Given the description of an element on the screen output the (x, y) to click on. 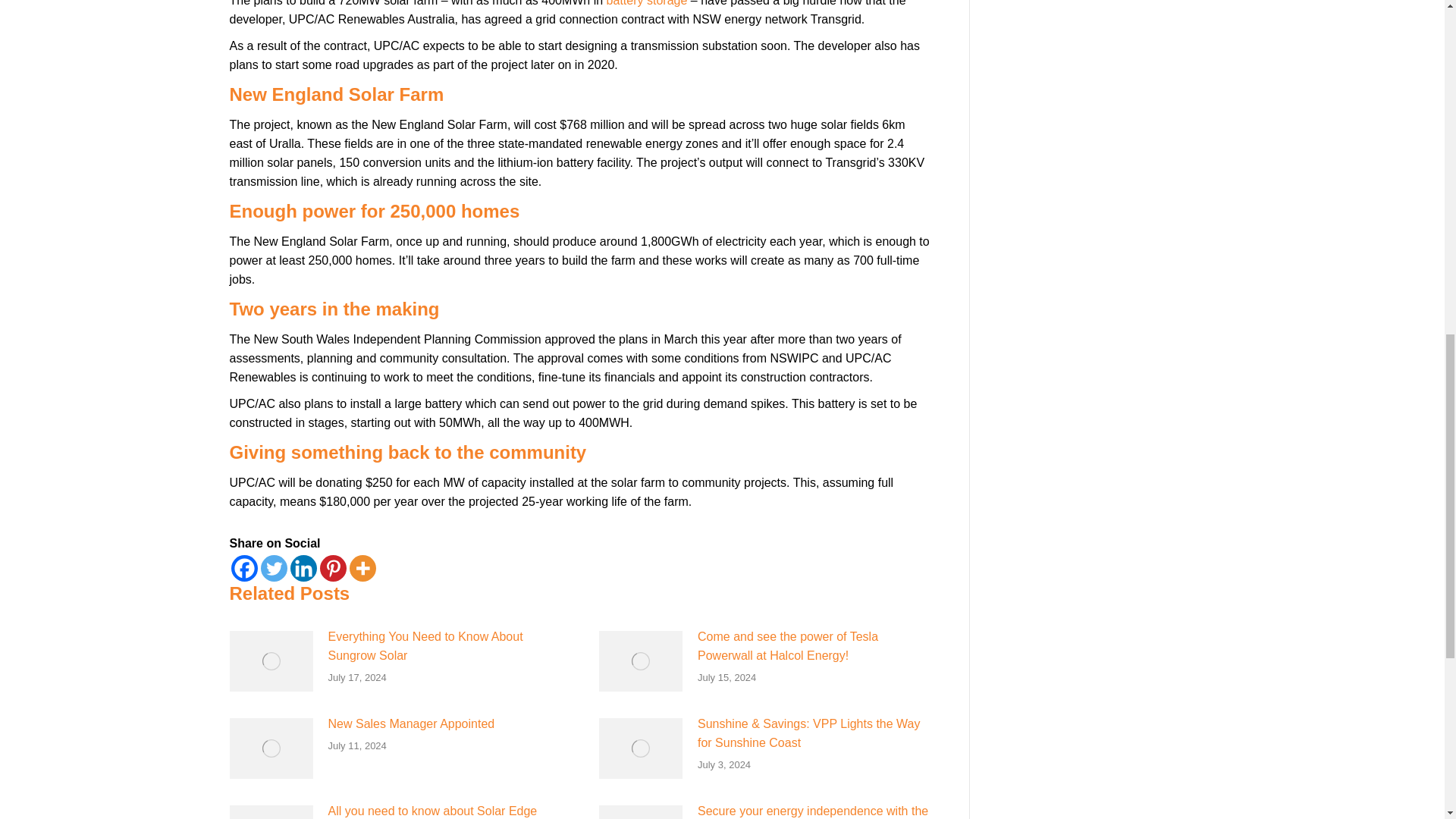
Linkedin (302, 568)
More (362, 568)
Facebook (243, 568)
Pinterest (333, 568)
Twitter (273, 568)
